Given the description of an element on the screen output the (x, y) to click on. 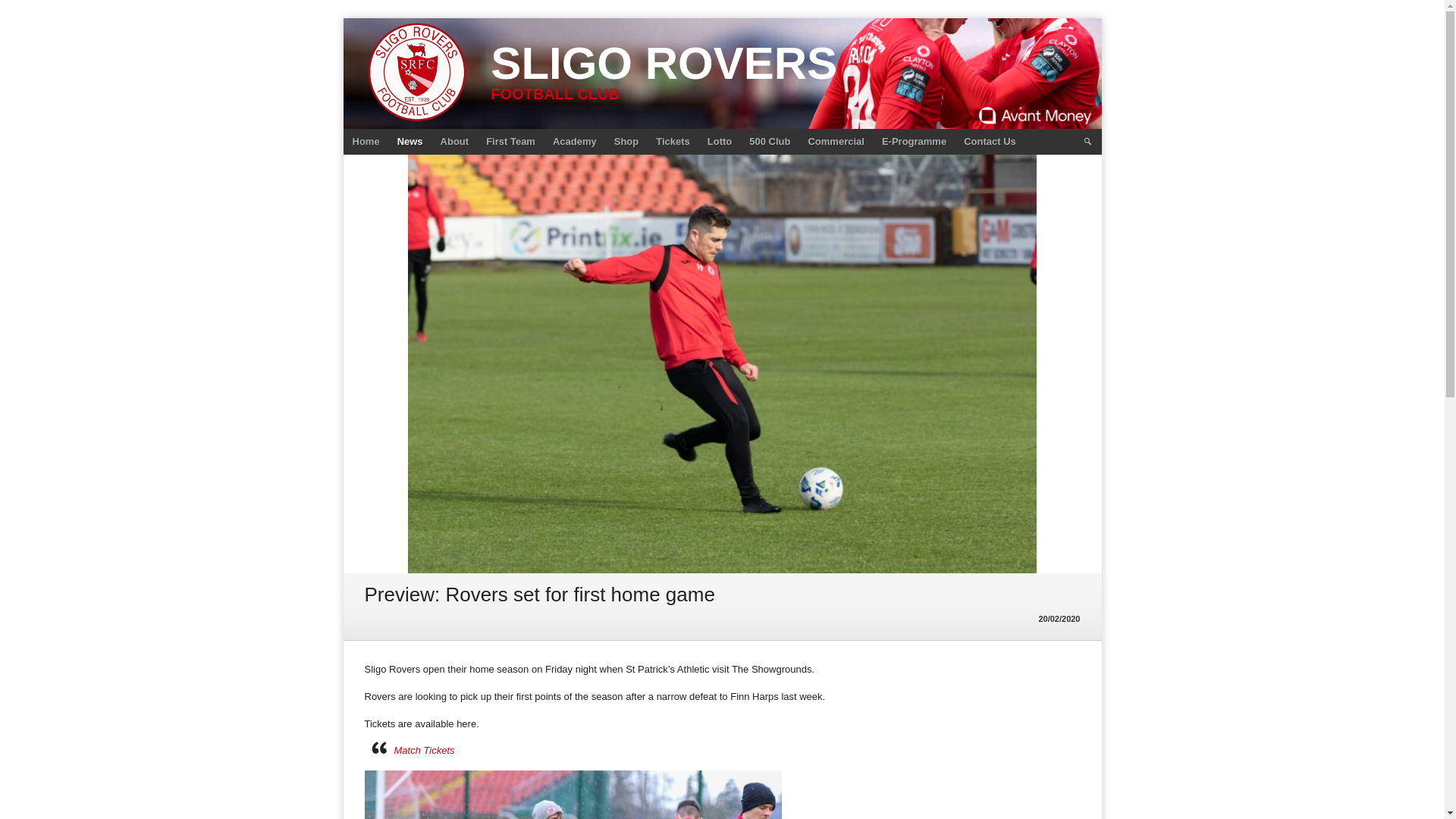
About (454, 141)
First Team (510, 141)
Home (365, 141)
Search (1088, 141)
SLIGO ROVERS (663, 62)
Academy (574, 141)
News (410, 141)
